Given the description of an element on the screen output the (x, y) to click on. 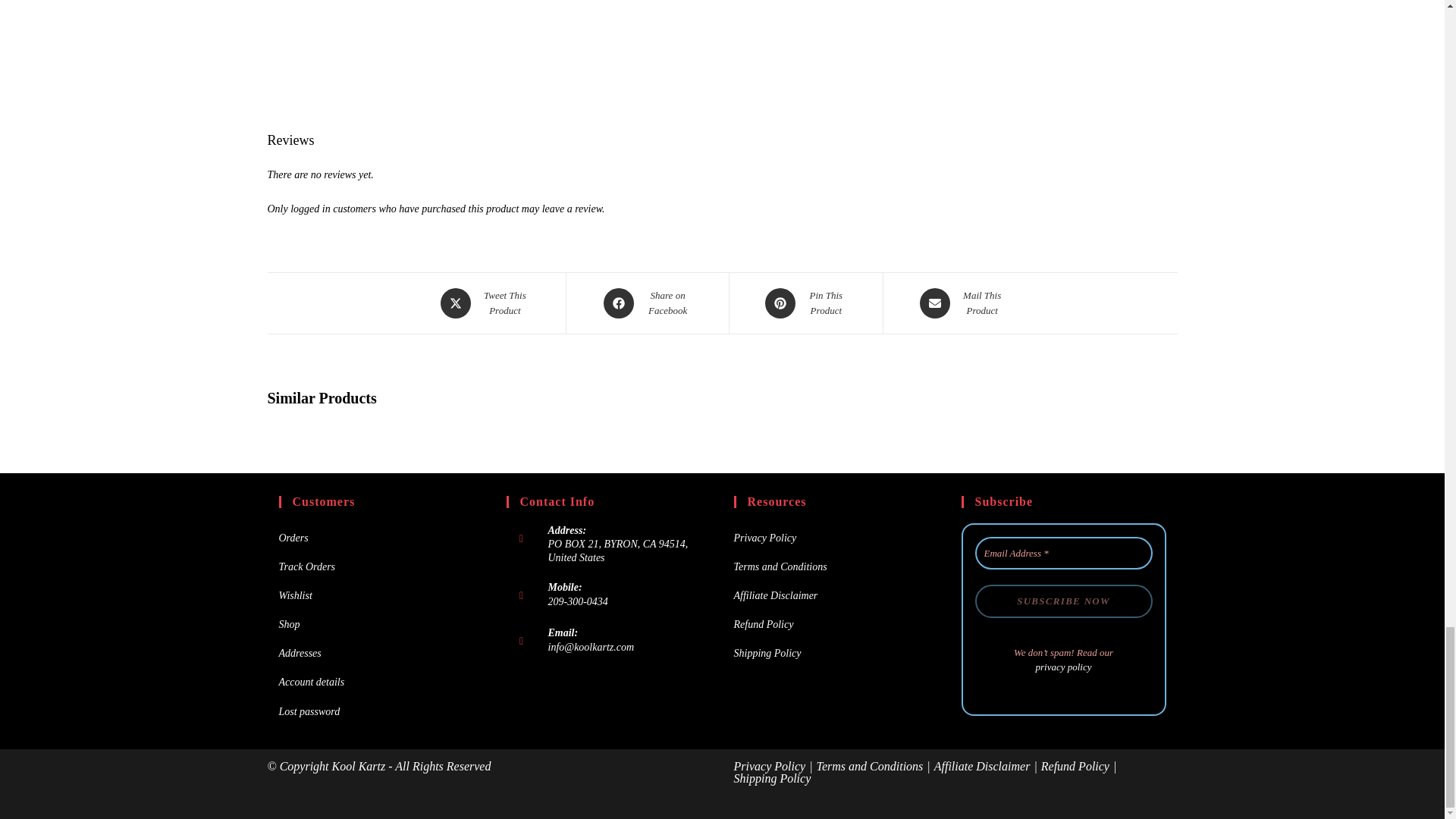
Subscribe Now (1064, 601)
